Given the description of an element on the screen output the (x, y) to click on. 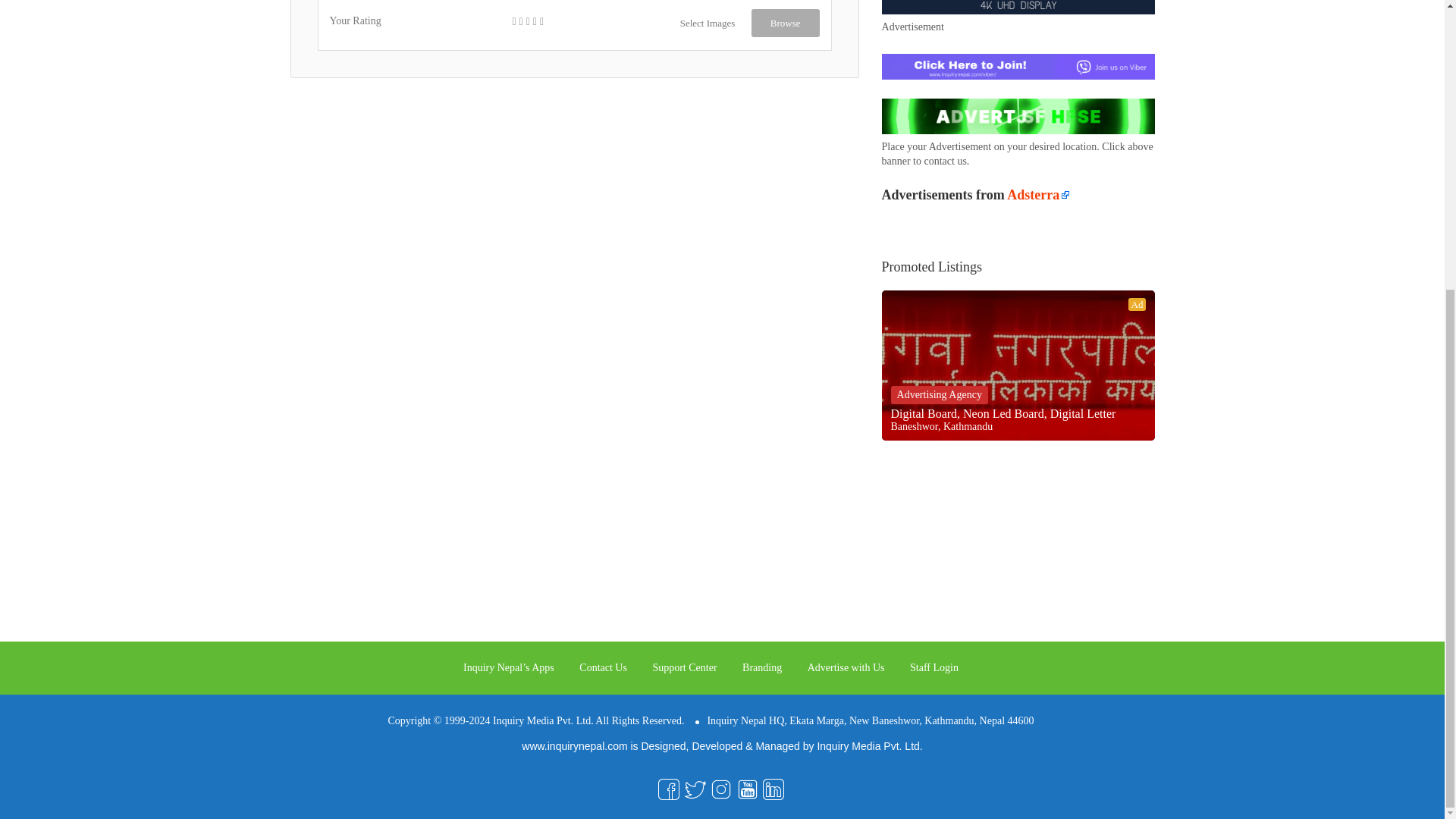
Browse (785, 22)
Submit (413, 62)
